Given the description of an element on the screen output the (x, y) to click on. 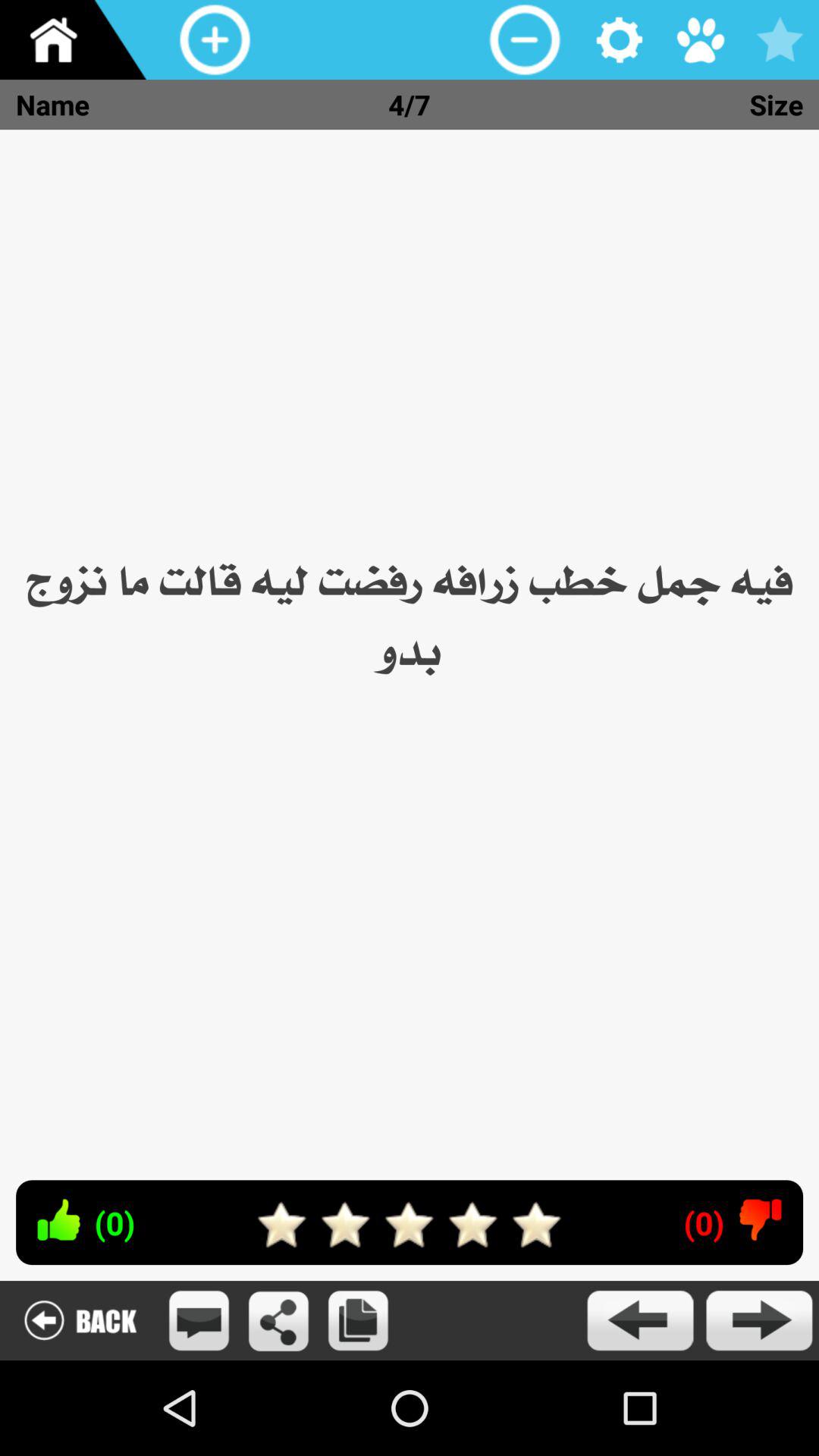
open message (198, 1320)
